Given the description of an element on the screen output the (x, y) to click on. 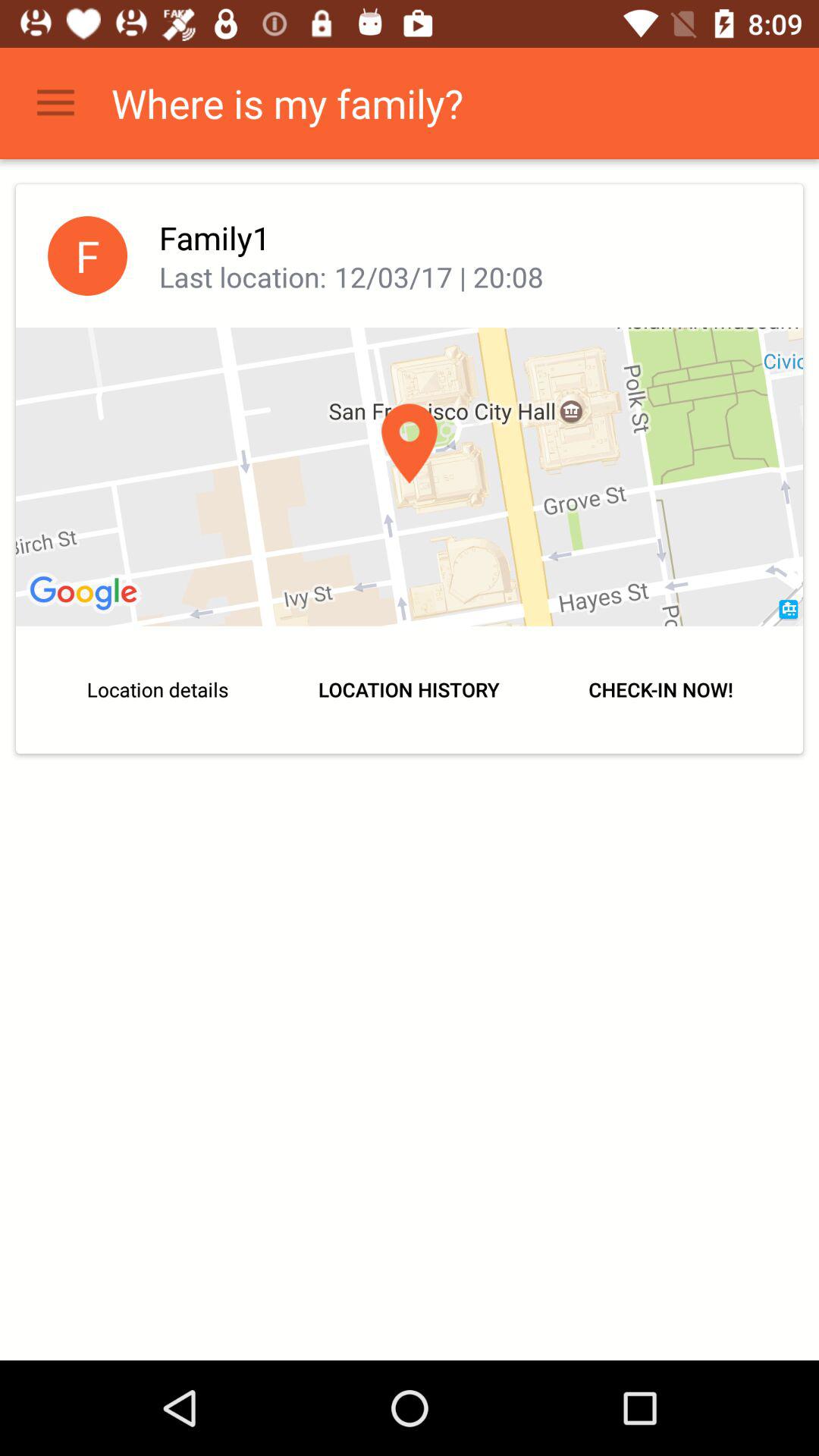
select the text google (85, 593)
select the text location history (409, 690)
select the text location details (157, 690)
